Given the description of an element on the screen output the (x, y) to click on. 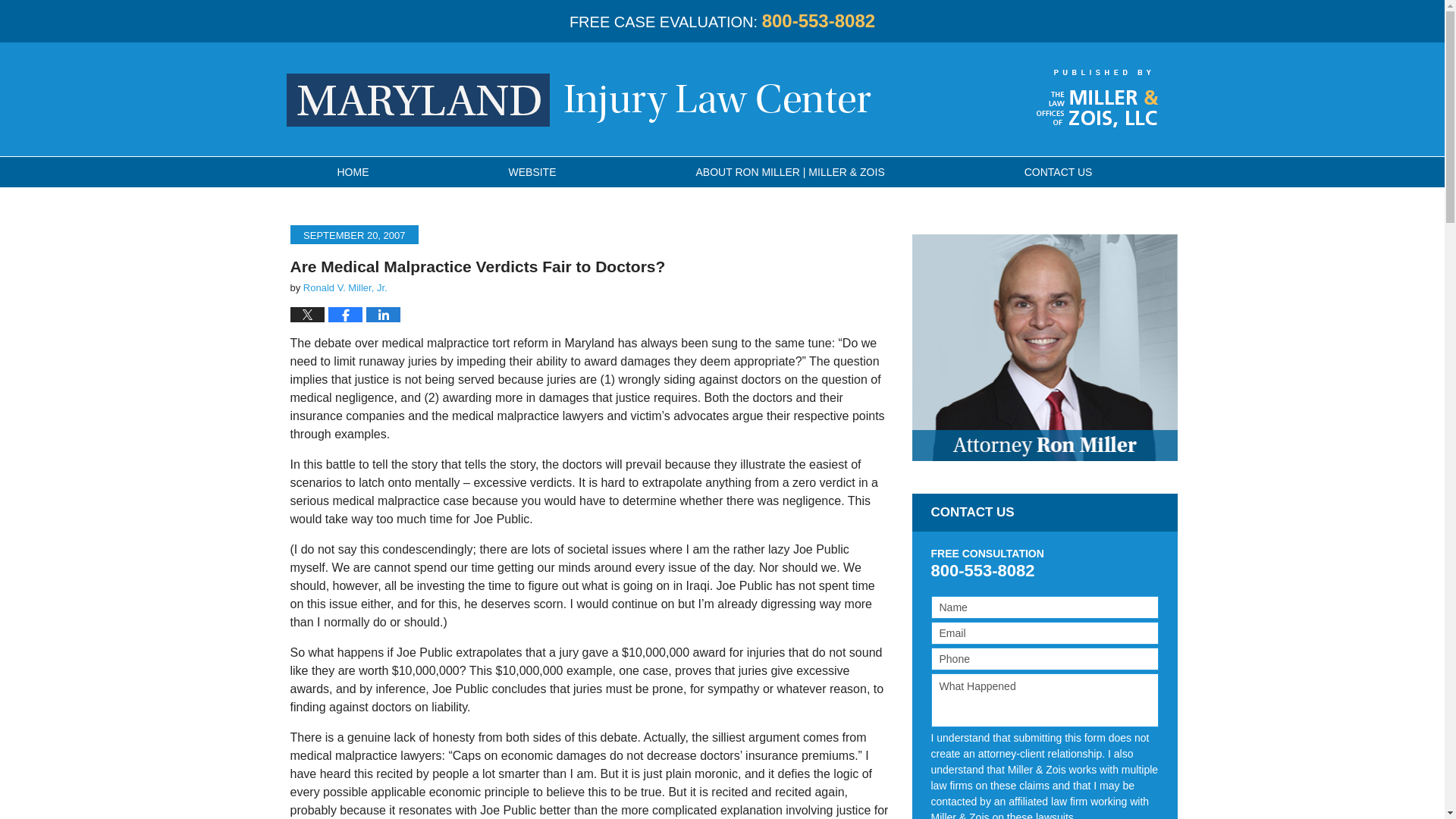
Ronald V. Miller, Jr. (344, 287)
Maryland Injury Law Center (578, 99)
Please enter a valid phone number. (1044, 658)
WEBSITE (532, 172)
CONTACT US (1058, 172)
HOME (352, 172)
